Given the description of an element on the screen output the (x, y) to click on. 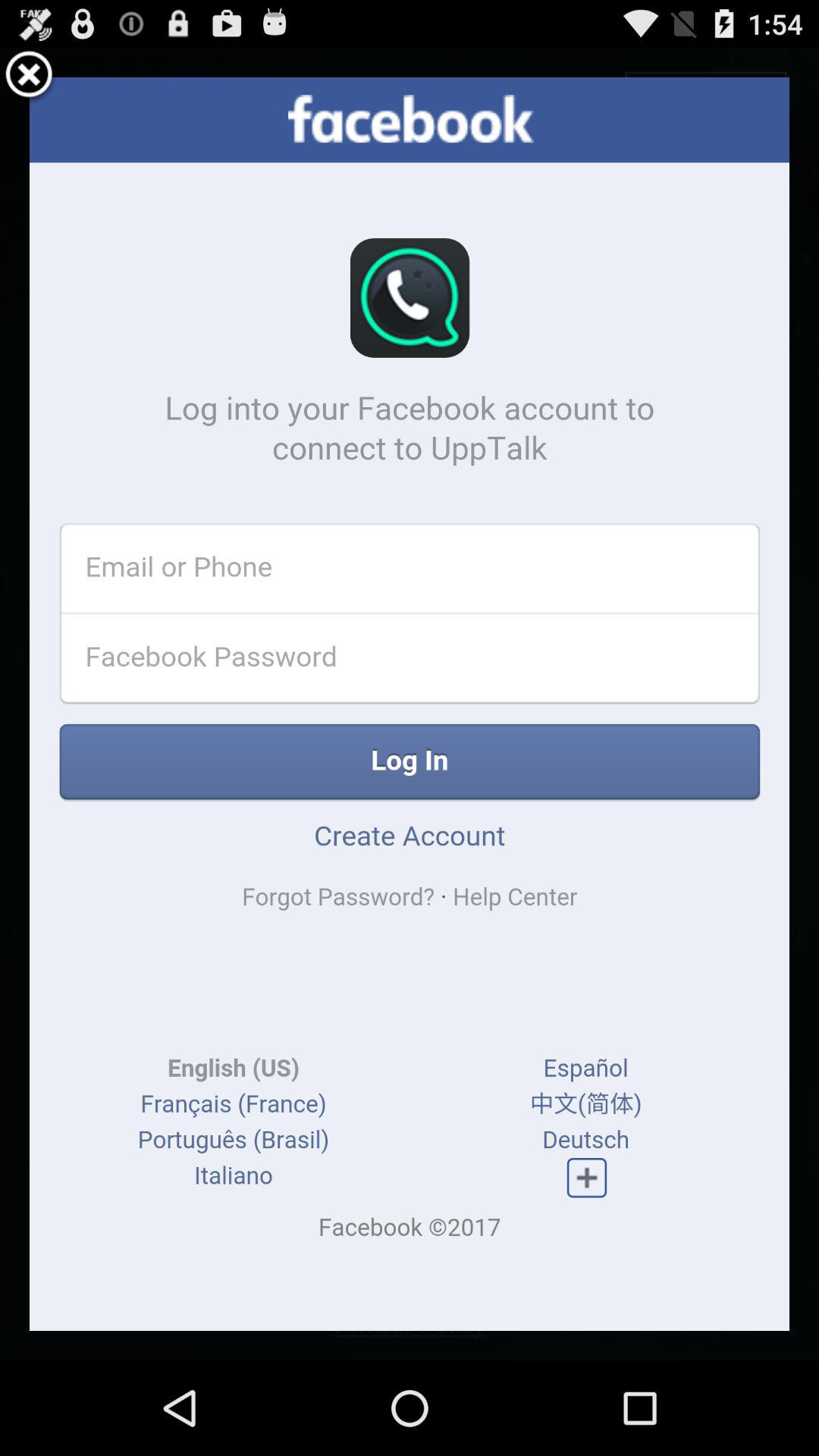
close facebook window (29, 76)
